Given the description of an element on the screen output the (x, y) to click on. 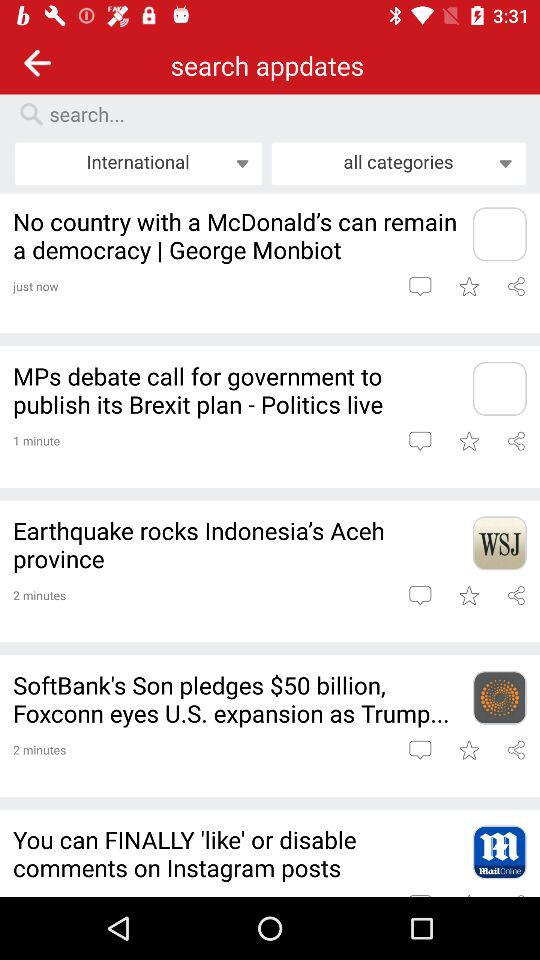
flip until the international item (138, 163)
